Given the description of an element on the screen output the (x, y) to click on. 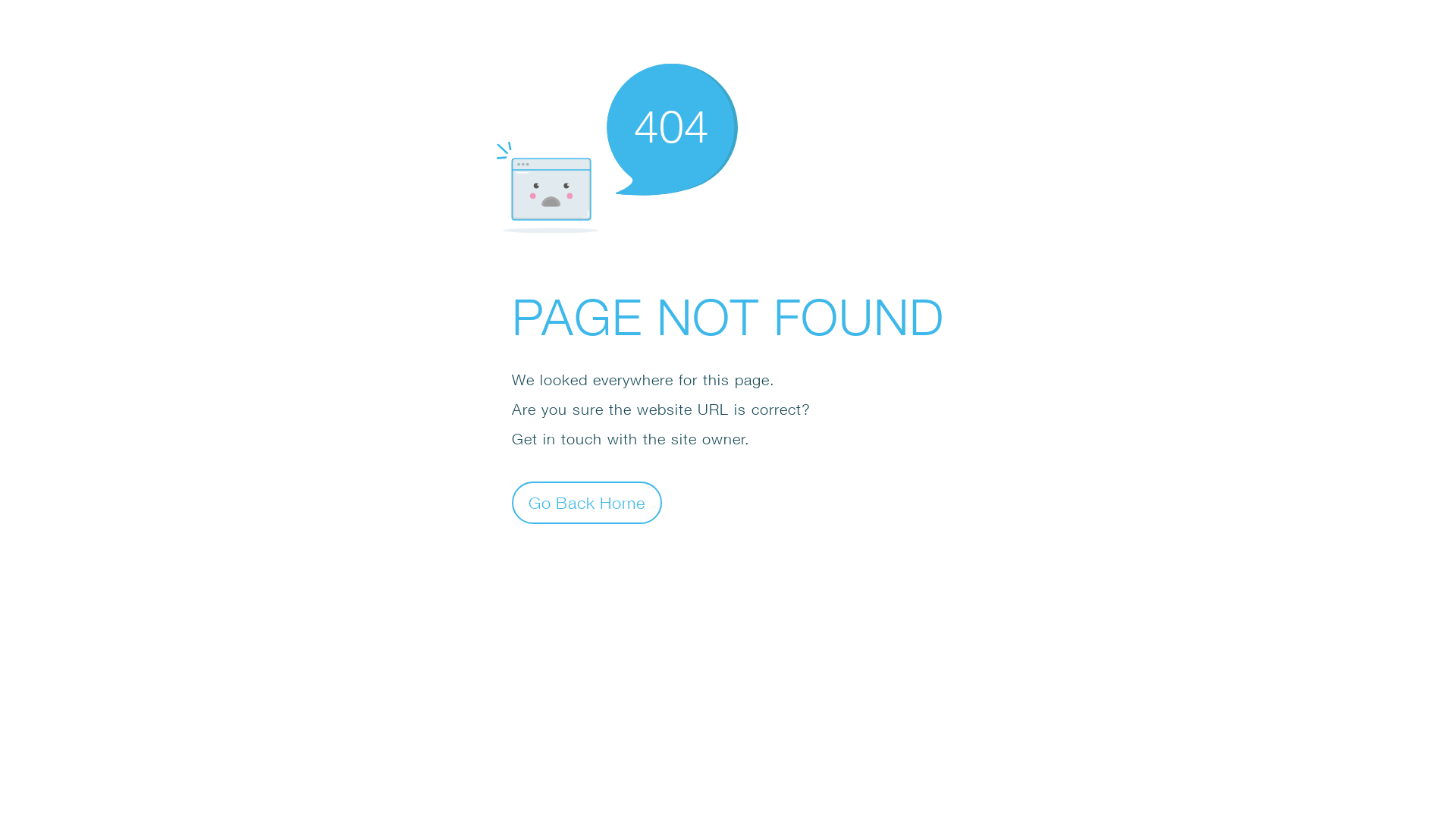
Go Back Home Element type: text (586, 502)
